Given the description of an element on the screen output the (x, y) to click on. 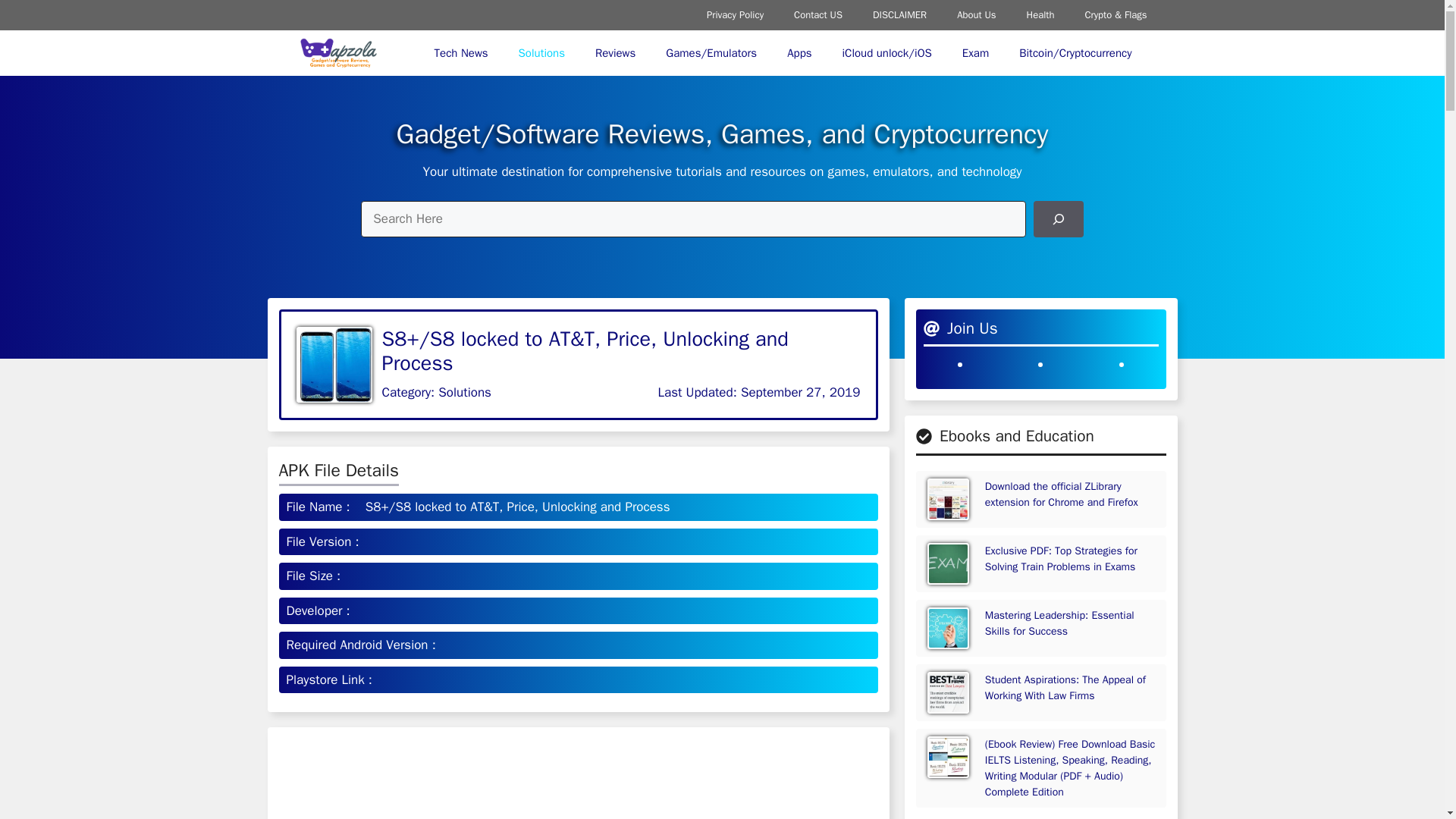
Wapzola (337, 53)
Apps (799, 53)
Advertisement (578, 778)
Privacy Policy (734, 15)
Reviews (614, 53)
Health (1040, 15)
About Us (976, 15)
DISCLAIMER (899, 15)
Advertisement (1040, 816)
Exam (975, 53)
Solutions (541, 53)
Contact US (817, 15)
